Given the description of an element on the screen output the (x, y) to click on. 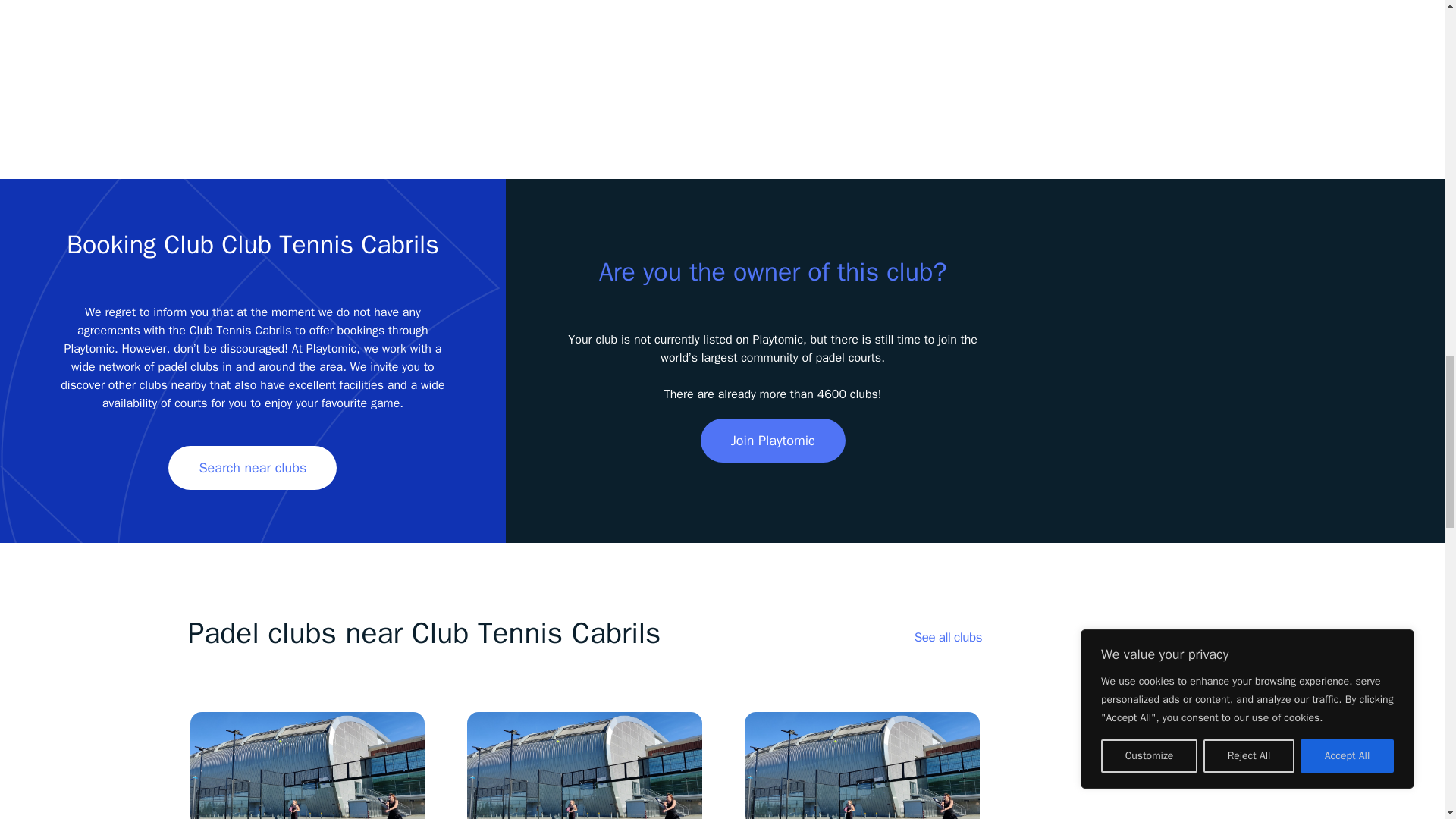
See all clubs (947, 637)
Join Playtomic (772, 440)
Search near clubs (252, 467)
